Given the description of an element on the screen output the (x, y) to click on. 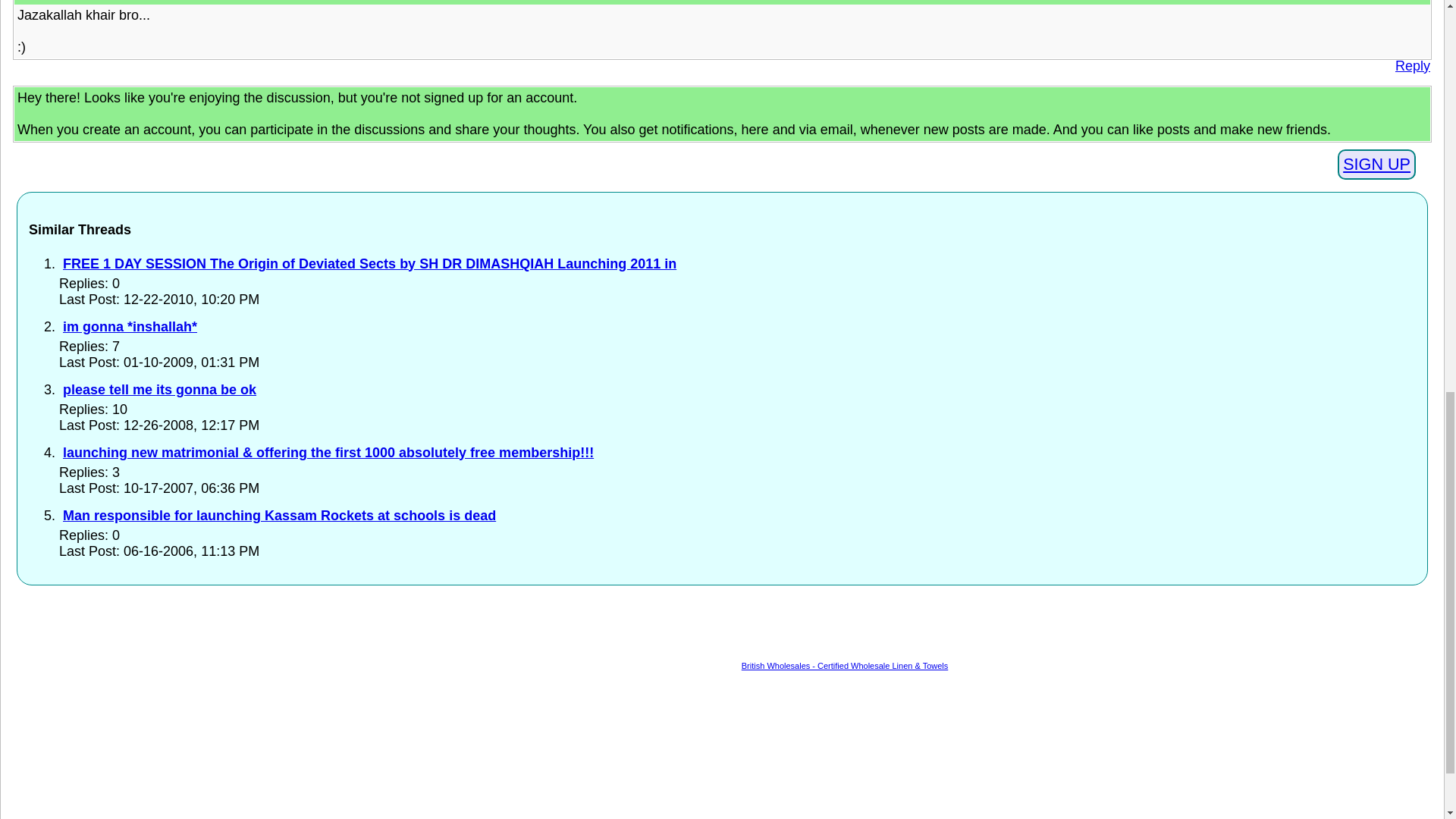
SIGN UP (1376, 164)
3rd party ad content (617, 630)
3rd party ad content (721, 746)
Reply (1411, 66)
please tell me its gonna be ok (159, 389)
